Given the description of an element on the screen output the (x, y) to click on. 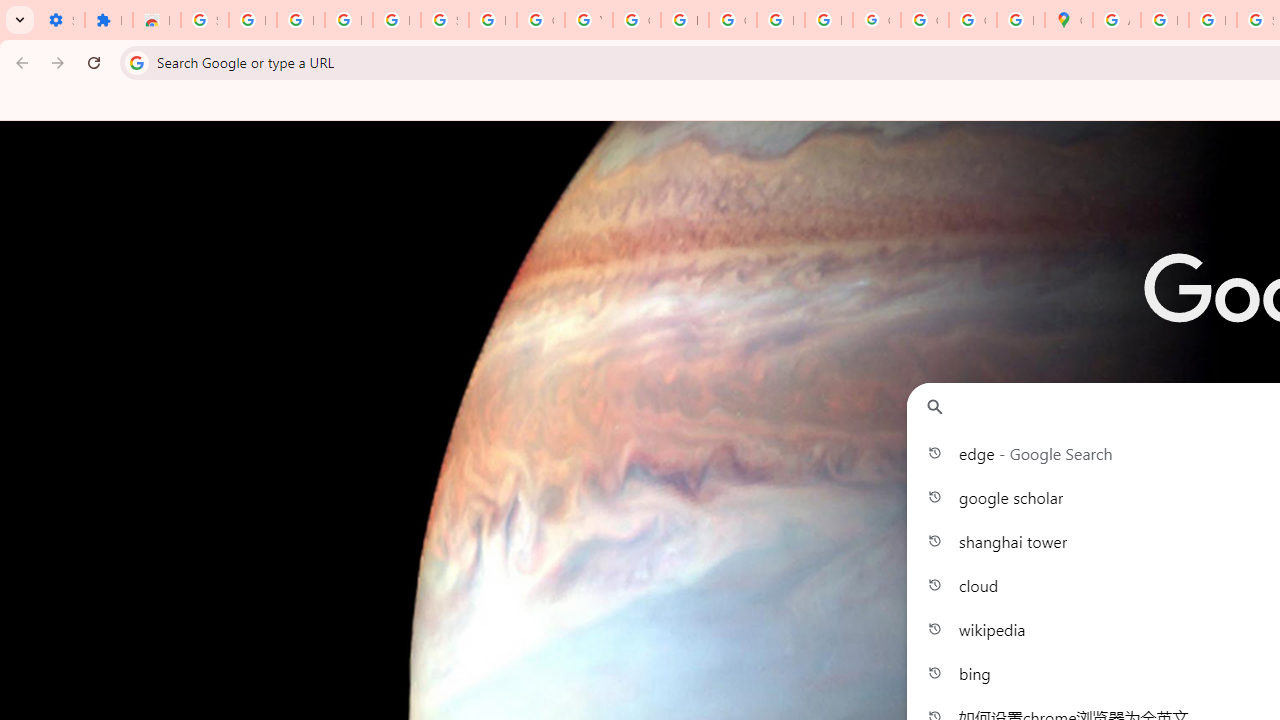
https://scholar.google.com/ (684, 20)
Google Account (540, 20)
Settings - On startup (60, 20)
Google Maps (1068, 20)
